Given the description of an element on the screen output the (x, y) to click on. 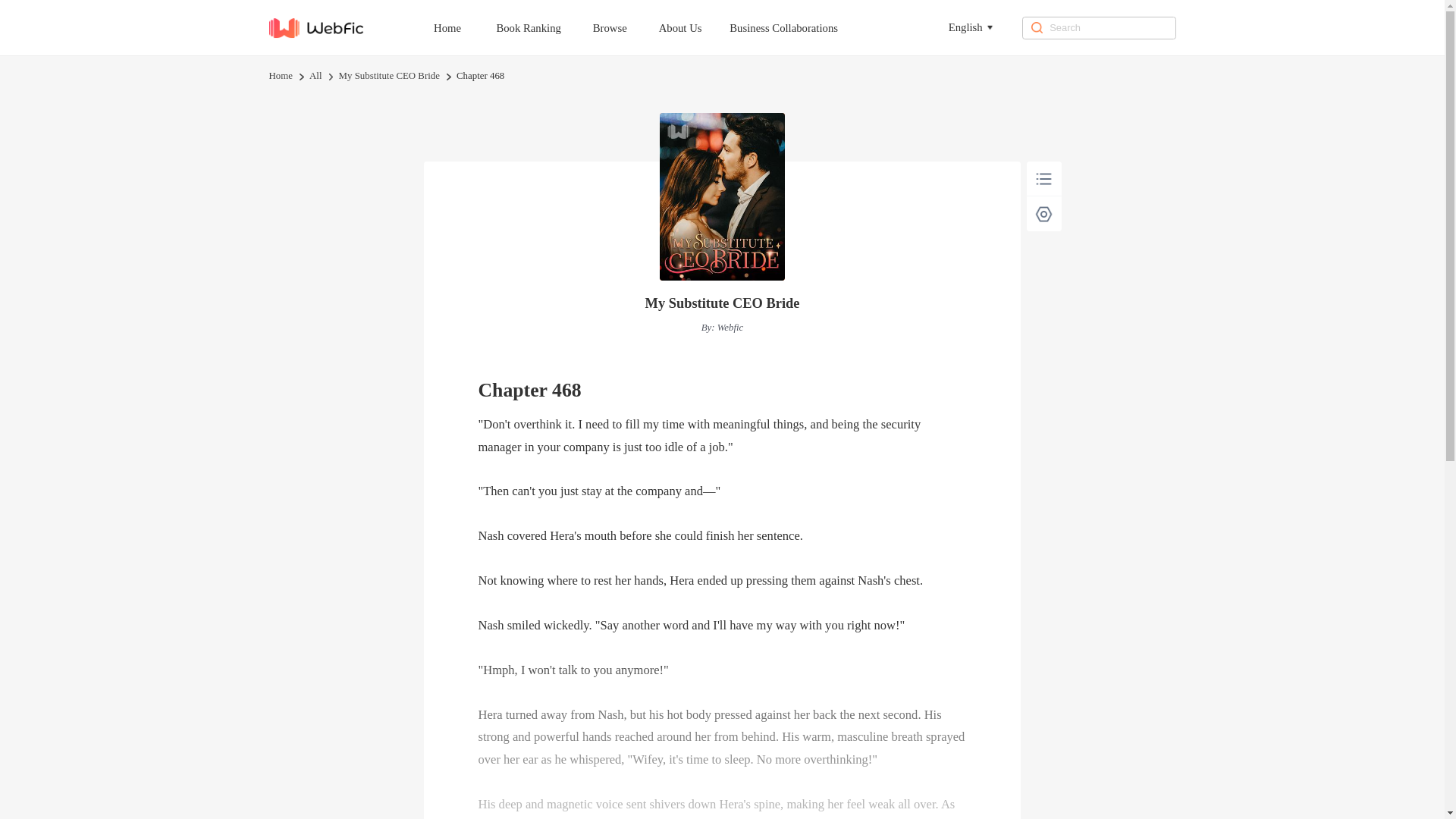
My Substitute CEO Bride (389, 76)
Home (279, 76)
My Substitute CEO Bride (722, 303)
Home (461, 27)
Browse (624, 27)
Business Collaborations (797, 27)
Book Ranking (542, 27)
About Us (694, 27)
